Given the description of an element on the screen output the (x, y) to click on. 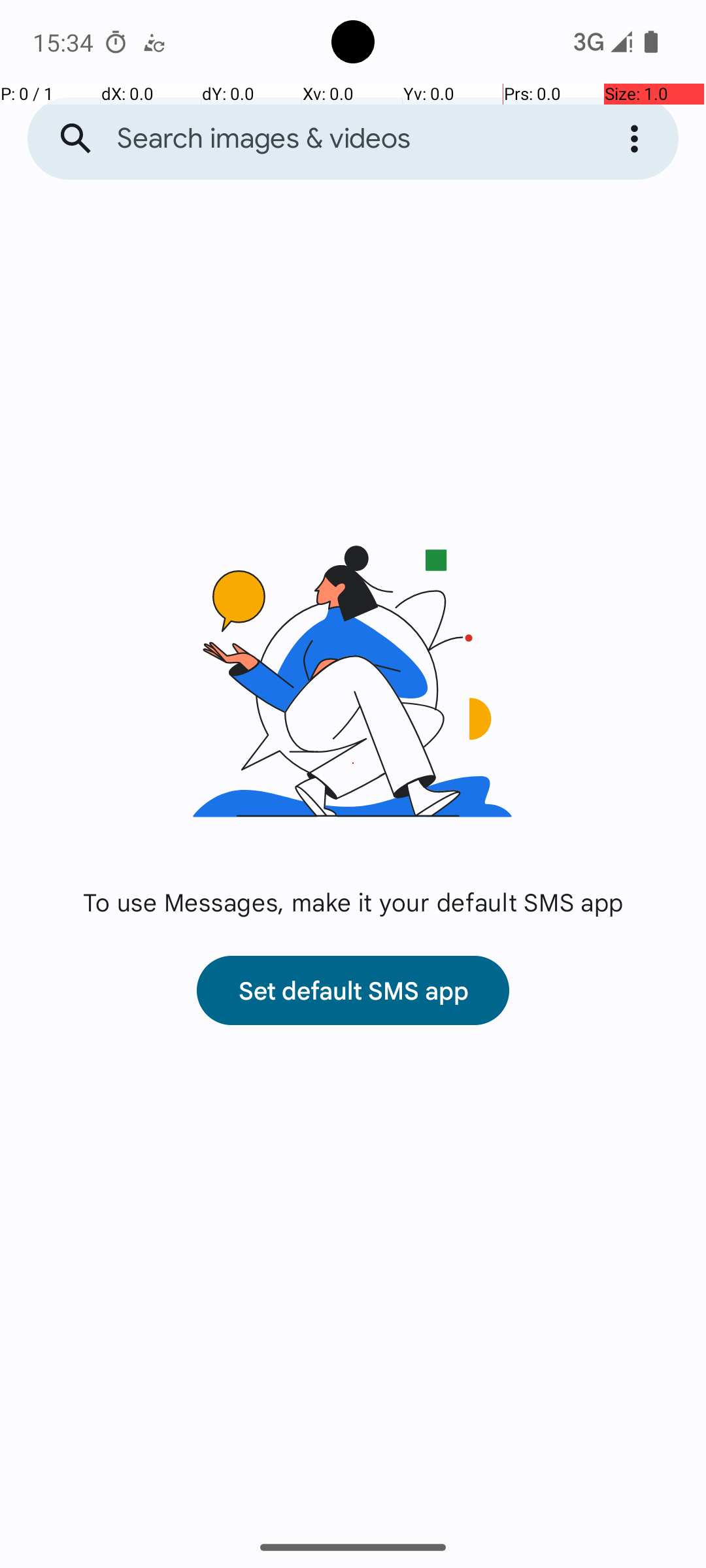
To use Messages, make it your default SMS app Element type: android.widget.TextView (353, 901)
Set default SMS app Element type: android.widget.Button (352, 990)
